Given the description of an element on the screen output the (x, y) to click on. 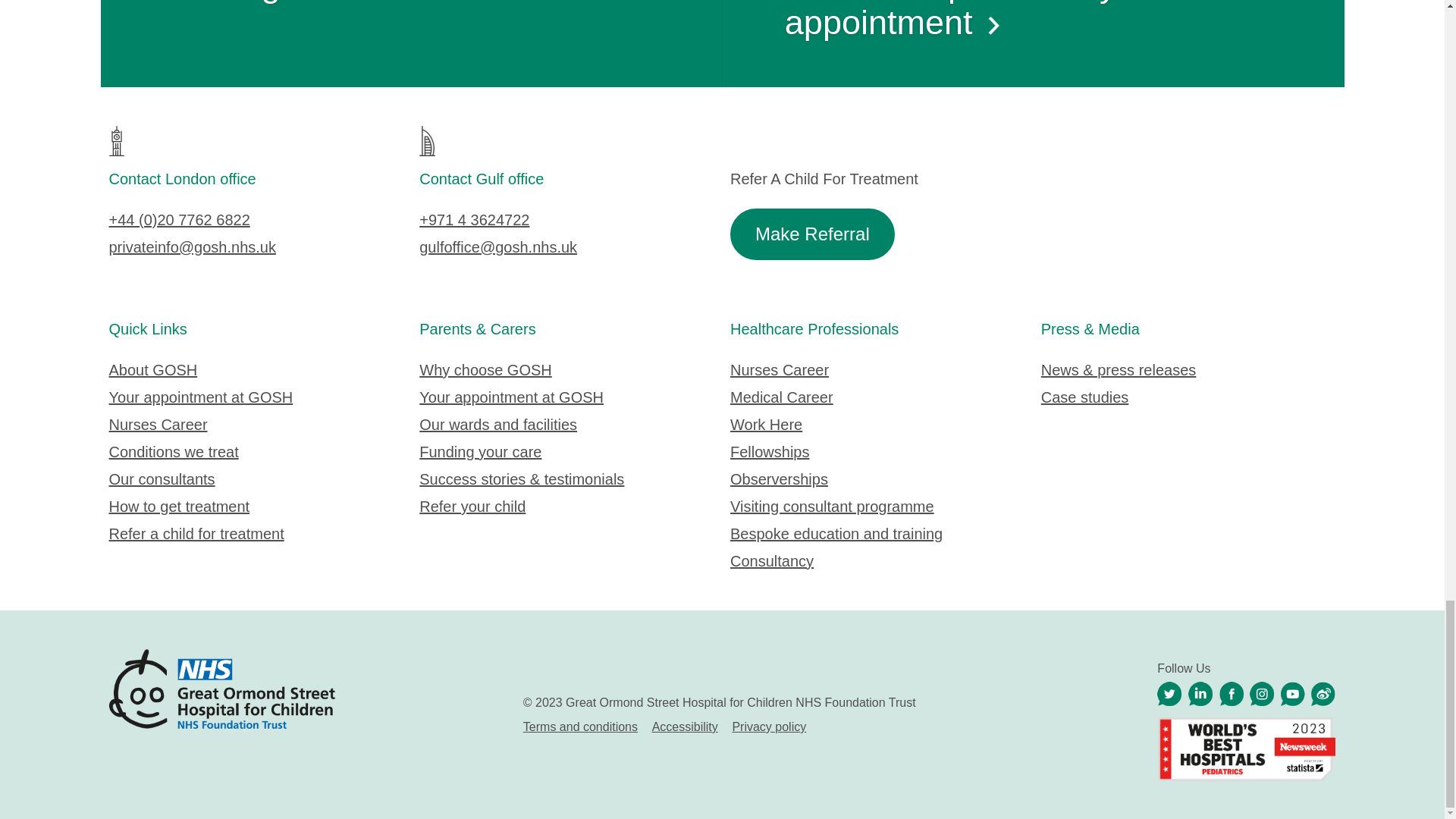
Observerships (779, 478)
Fellowships (769, 451)
Bespoke education and training (836, 533)
Visiting expert programme (832, 506)
Terms and conditions (579, 726)
Refer your child (472, 506)
Refer a child for treatment (196, 533)
Funding your care (480, 451)
Conditions we treat (173, 451)
Accessibility (684, 726)
